Given the description of an element on the screen output the (x, y) to click on. 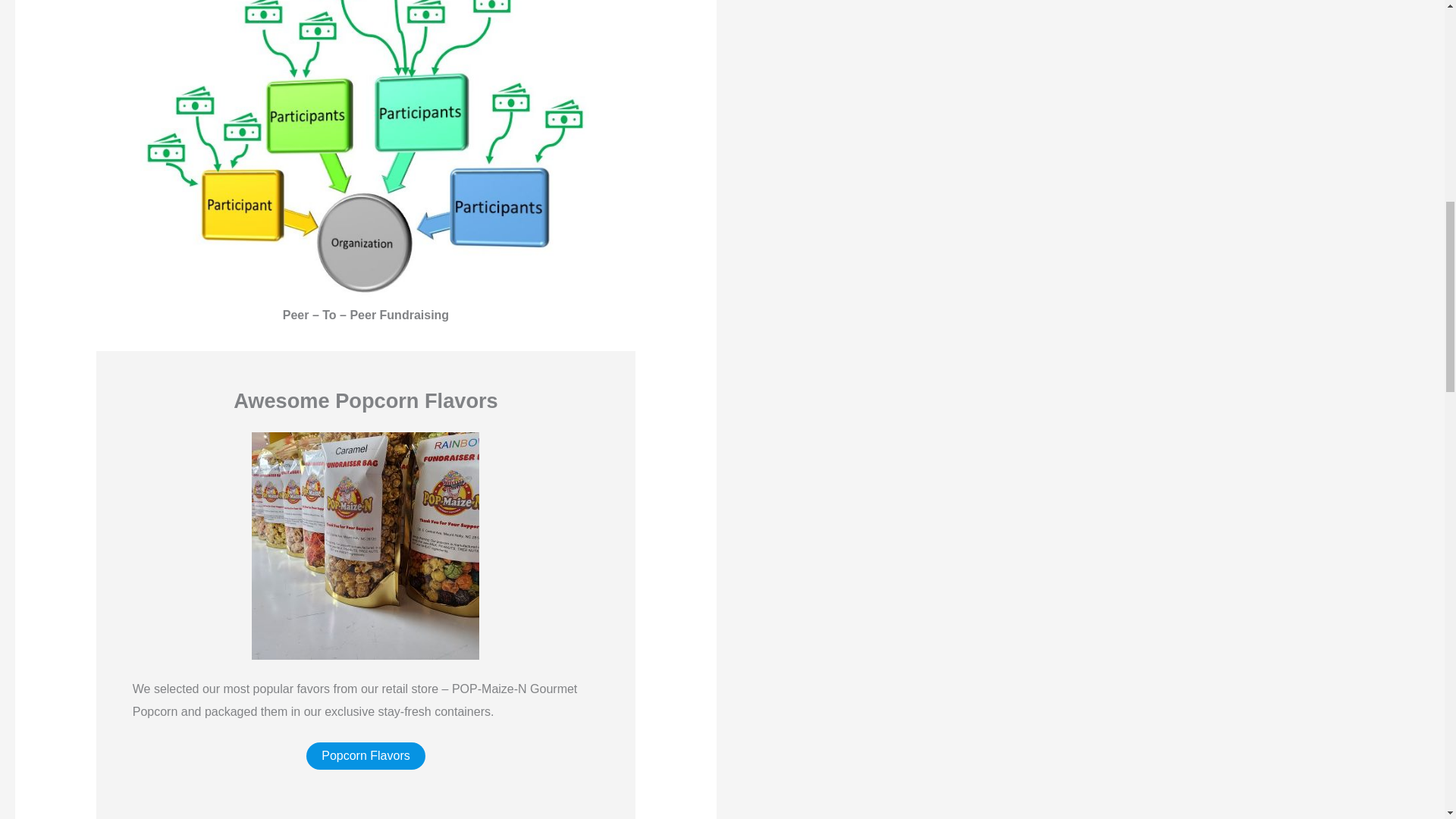
Popcorn Flavors (365, 755)
